Given the description of an element on the screen output the (x, y) to click on. 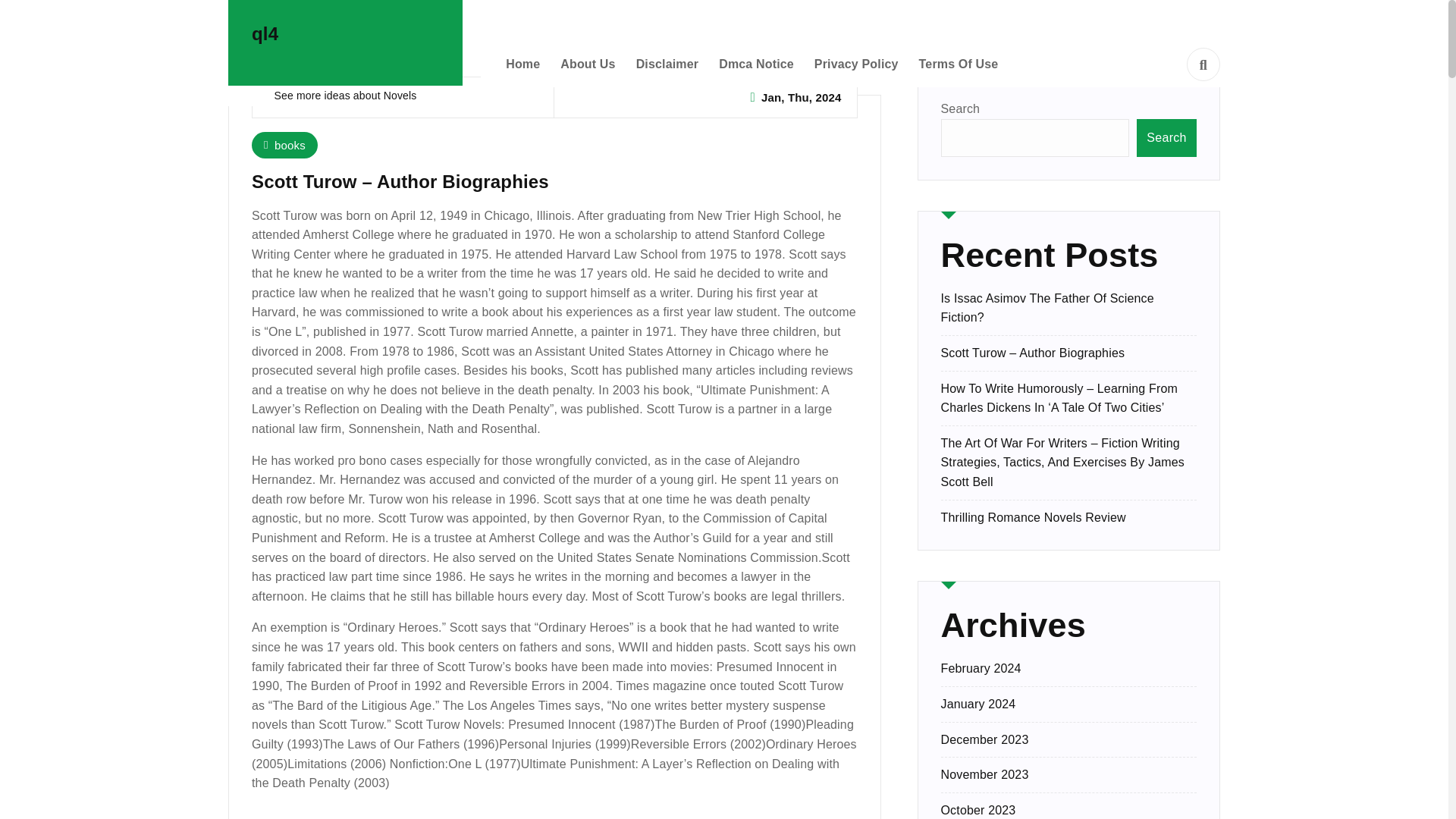
Privacy Policy (855, 64)
Privacy Policy (855, 64)
About Us (587, 64)
Disclaimer (667, 64)
Dmca Notice (756, 64)
Home (522, 64)
Home (522, 64)
Terms Of Use (958, 64)
Dmca Notice (756, 64)
Terms Of Use (958, 64)
